Given the description of an element on the screen output the (x, y) to click on. 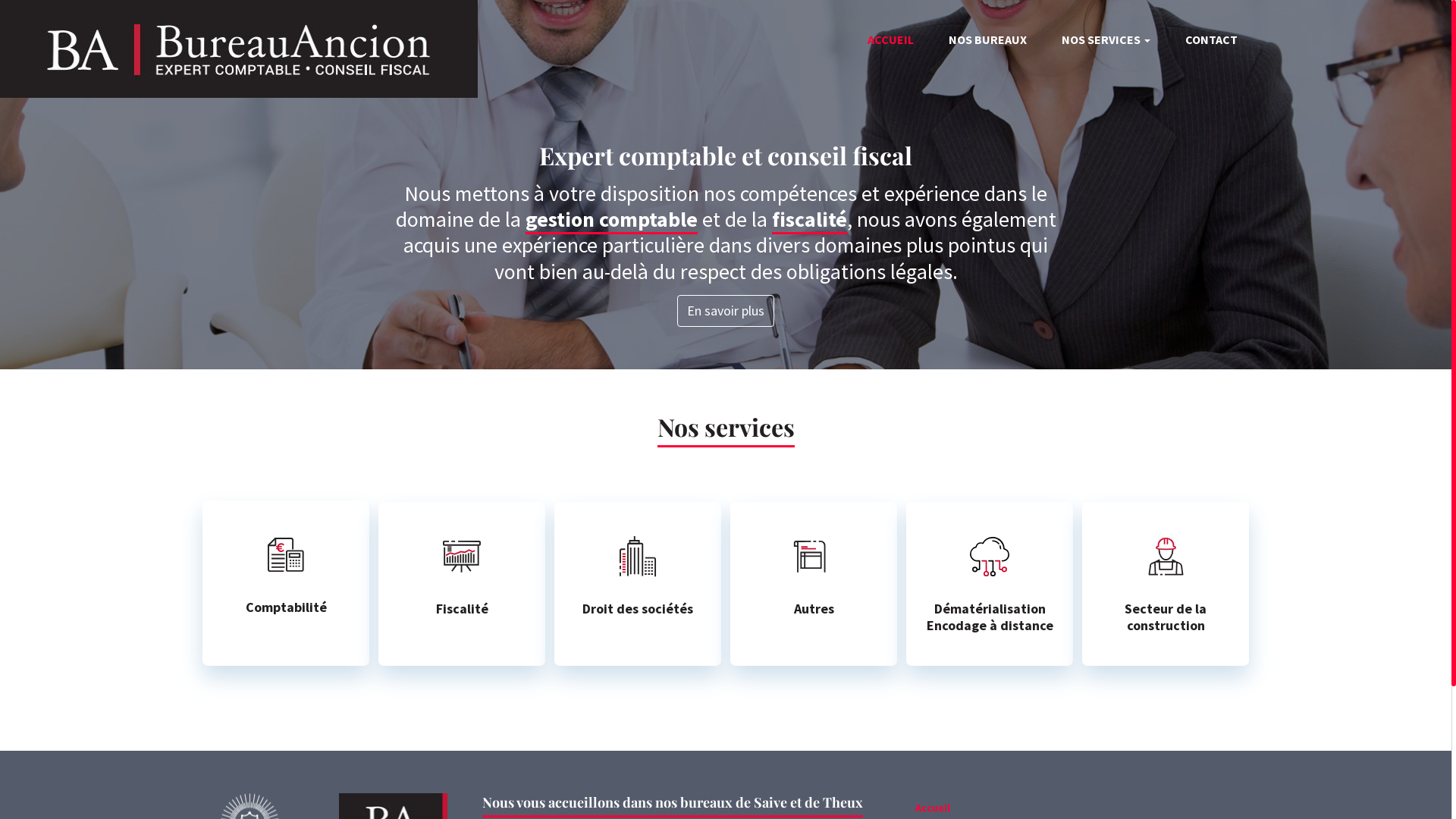
Autres Element type: text (813, 583)
NOS SERVICES Element type: text (1105, 39)
En savoir plus Element type: text (725, 310)
CONTACT Element type: text (1210, 39)
Secteur de la construction Element type: text (1165, 583)
NOS BUREAUX Element type: text (987, 39)
ACCUEIL Element type: text (890, 39)
